Given the description of an element on the screen output the (x, y) to click on. 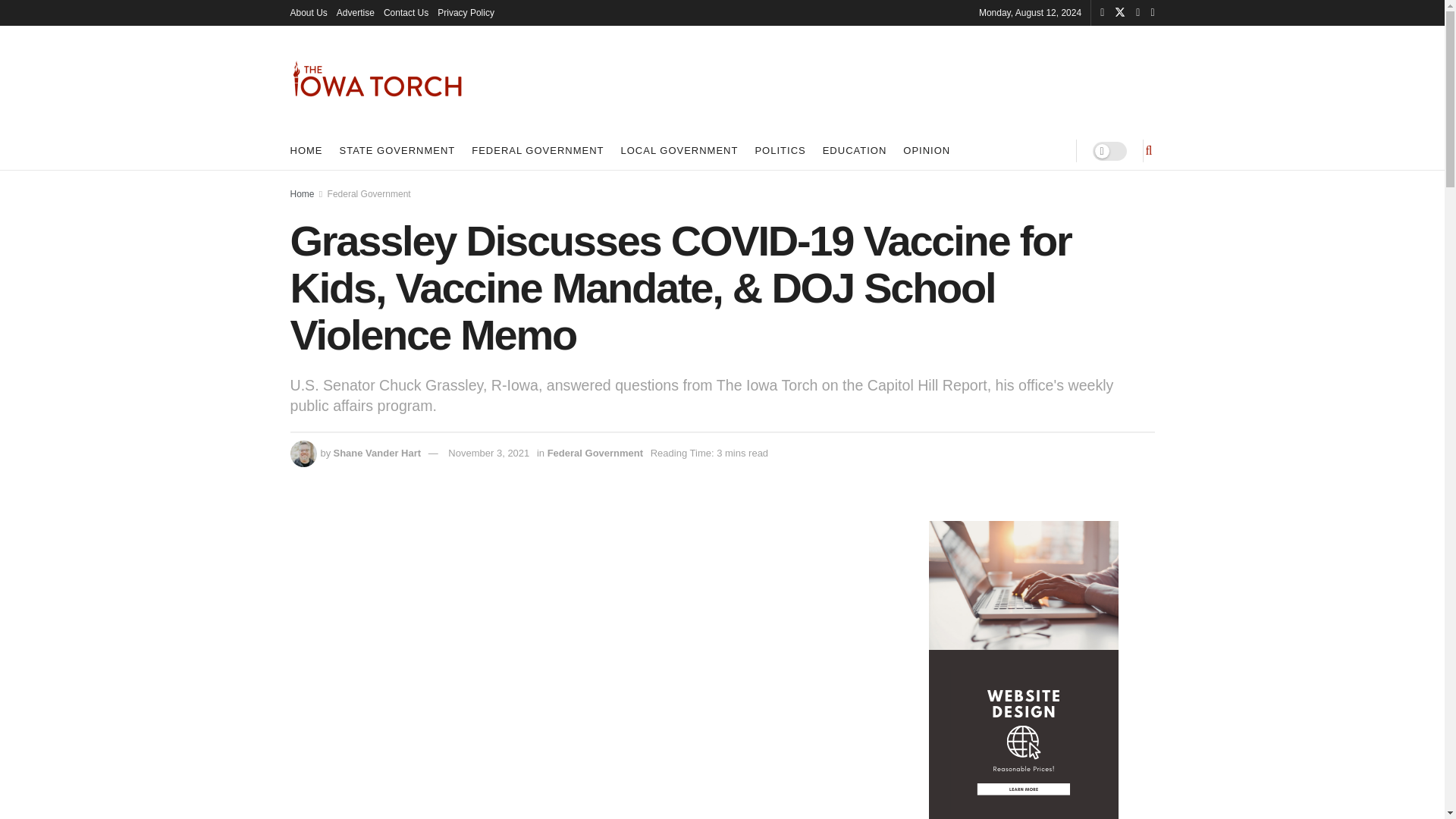
Shane Vander Hart (376, 452)
LOCAL GOVERNMENT (679, 150)
POLITICS (779, 150)
EDUCATION (854, 150)
About Us (307, 12)
STATE GOVERNMENT (397, 150)
OPINION (926, 150)
FEDERAL GOVERNMENT (537, 150)
Home (301, 194)
Federal Government (368, 194)
